Given the description of an element on the screen output the (x, y) to click on. 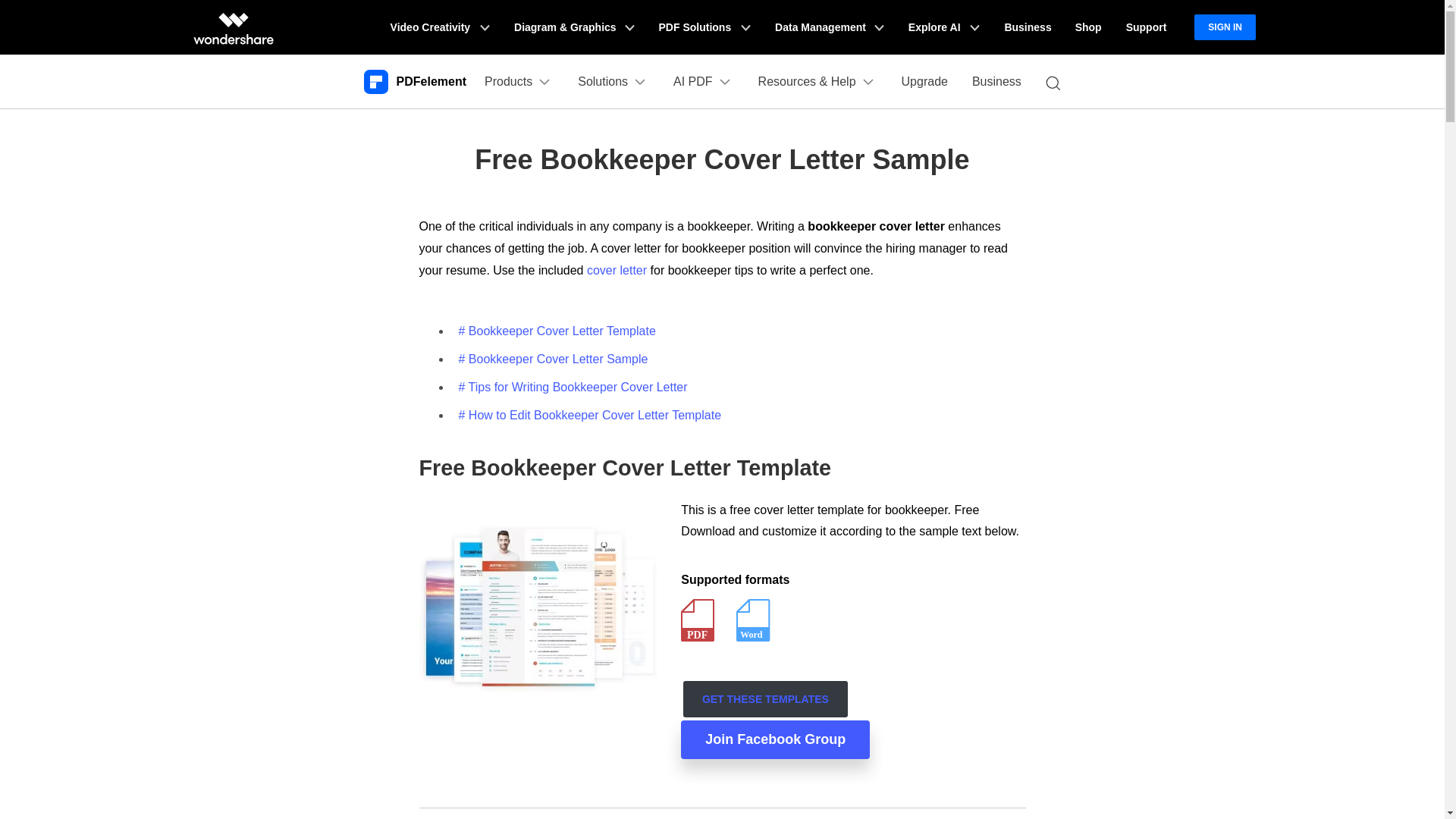
Explore AI (943, 27)
Data Management (829, 27)
PDF Solutions (704, 27)
Video Creativity (439, 27)
